Given the description of an element on the screen output the (x, y) to click on. 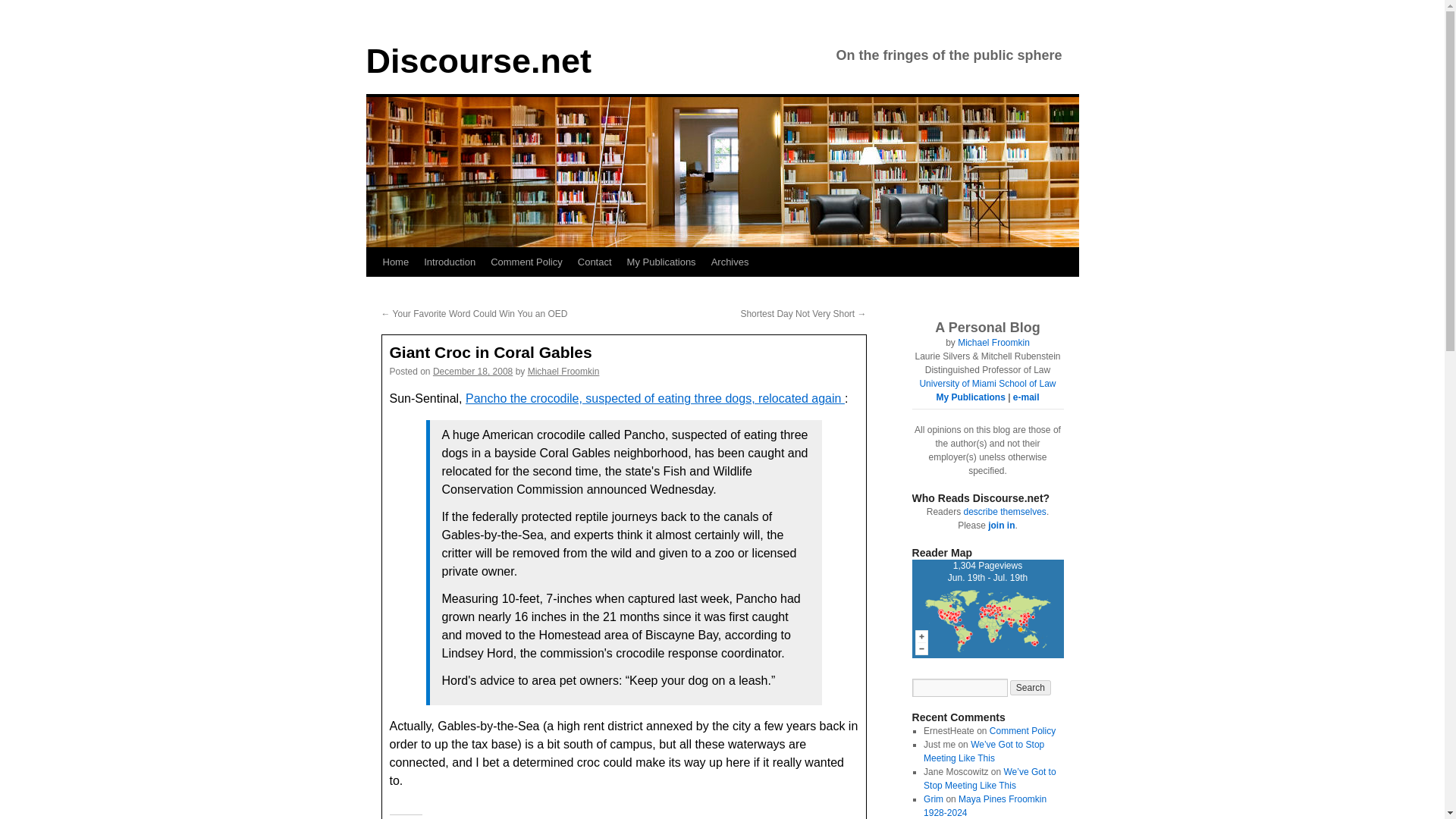
Grim (933, 798)
My Publications (661, 262)
Discourse.net (478, 60)
Most are available online (970, 397)
describe themselves (1003, 511)
University of Miami School of Law (986, 383)
Search (1030, 687)
Discourse.net (478, 60)
Search (986, 612)
Introduction (1030, 687)
instructions on how to deduce my email (449, 262)
My homepage (1026, 397)
e-mail (993, 342)
join in (1026, 397)
